Given the description of an element on the screen output the (x, y) to click on. 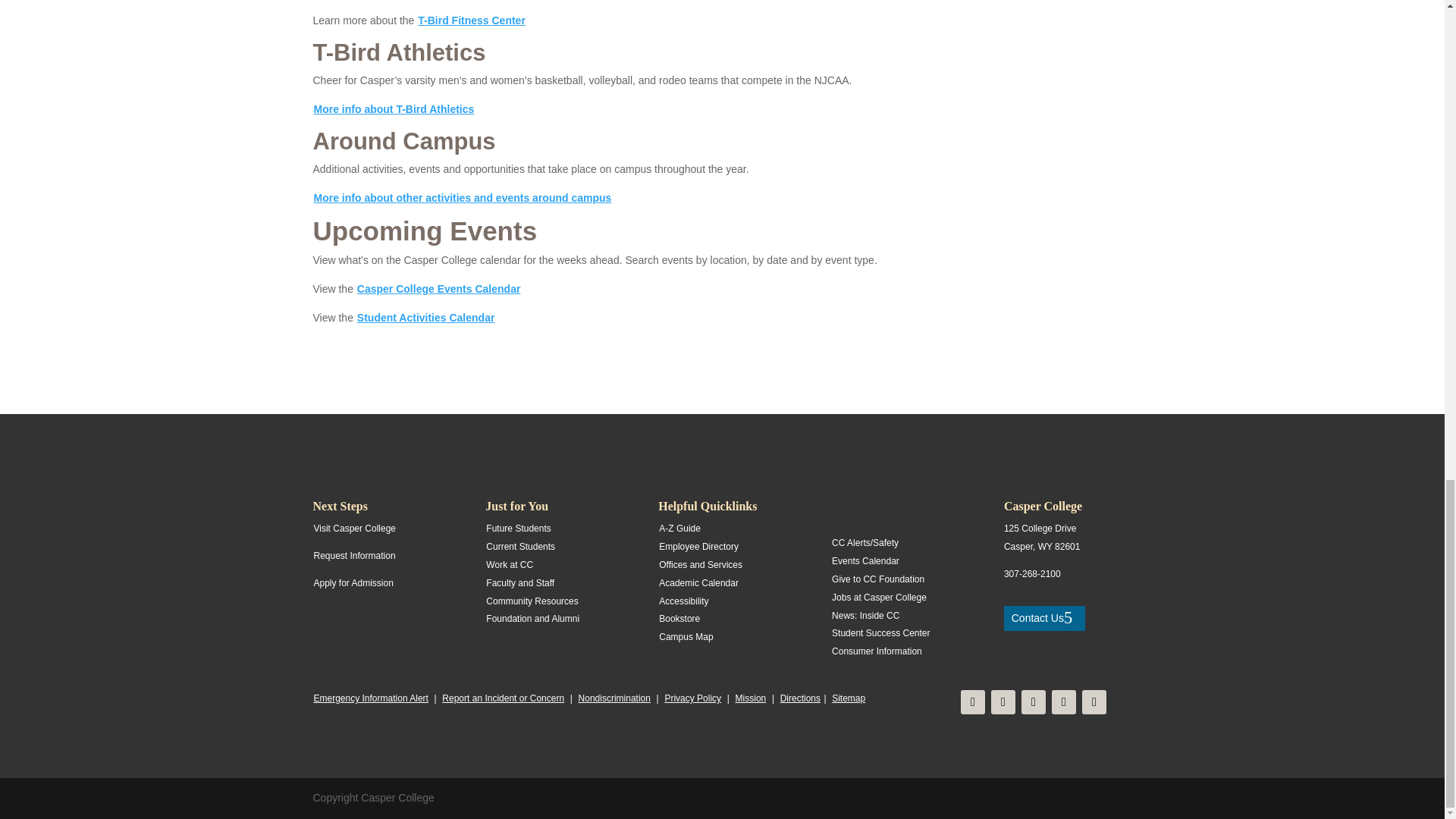
Follow on Facebook (972, 702)
Follow on X (1033, 702)
Thunderbird Athletics (393, 109)
Follow on Youtube (1063, 702)
Follow on Instagram (1002, 702)
Follow on LinkedIn (1093, 702)
